Given the description of an element on the screen output the (x, y) to click on. 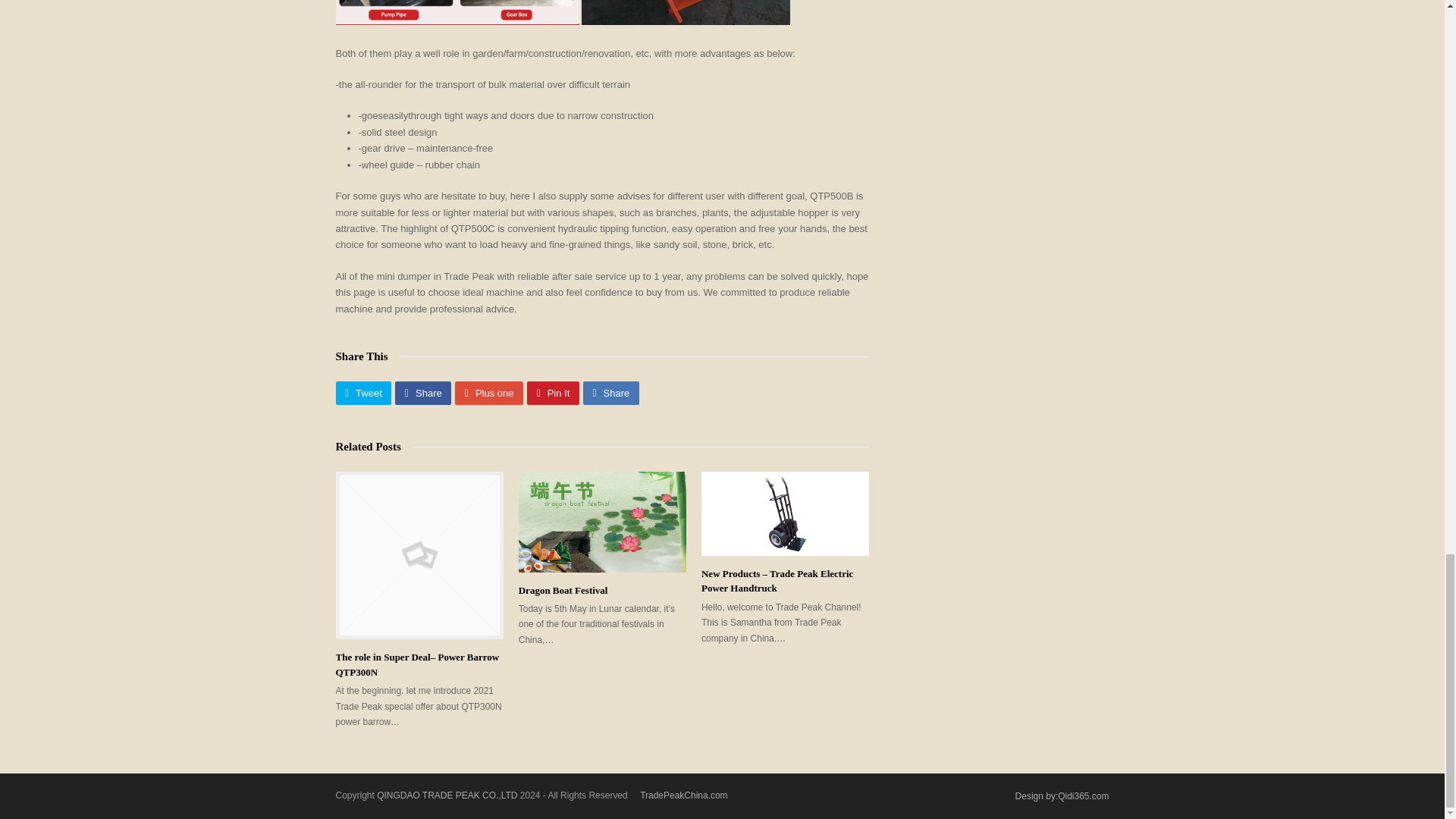
Share on Facebook (422, 392)
Dragon Boat Festival (601, 521)
Share on Twitter (362, 392)
Share on Pinterest (553, 392)
Share on LinkedIn (611, 392)
Dragon Boat Festival (563, 590)
